Given the description of an element on the screen output the (x, y) to click on. 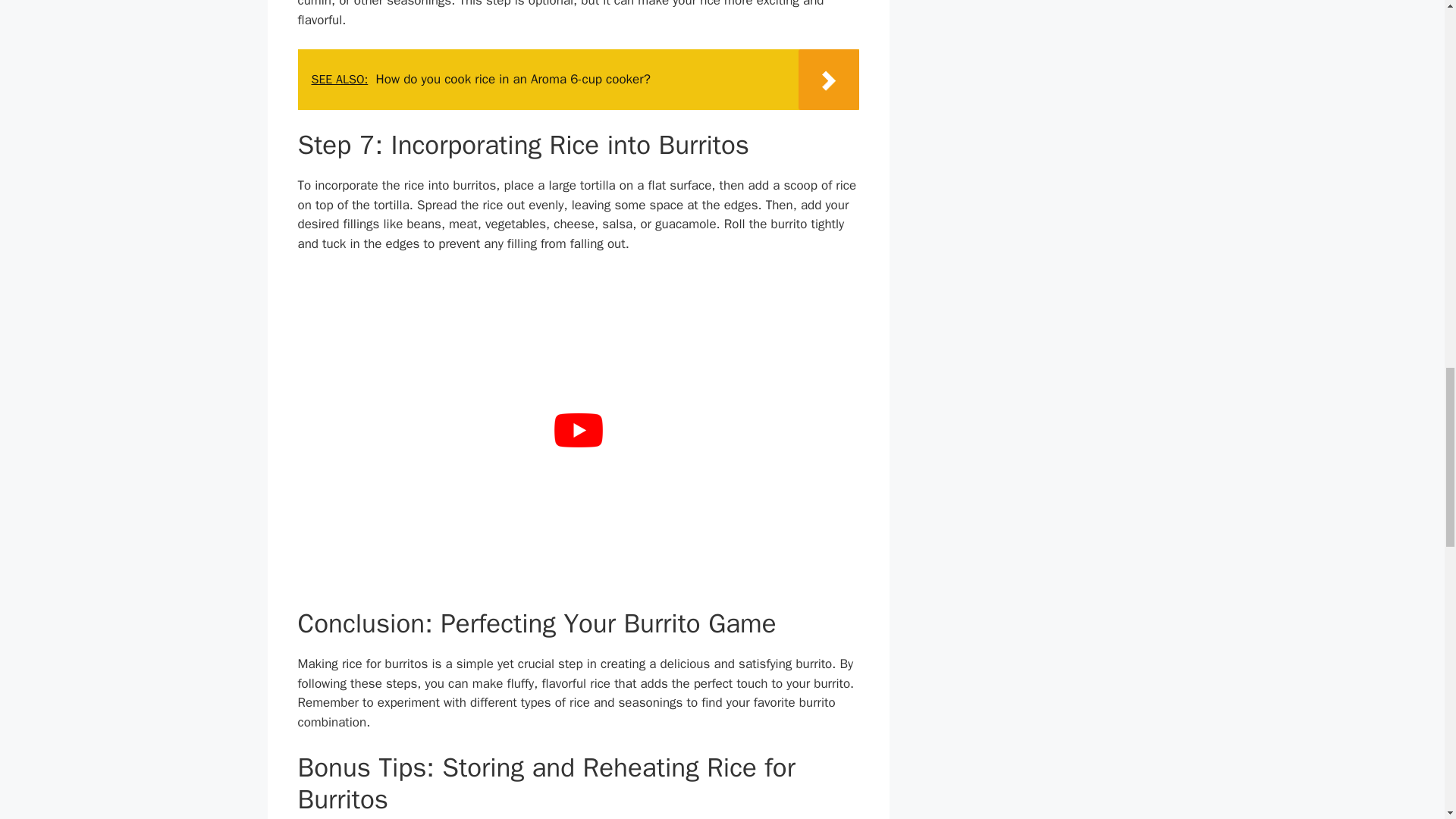
SEE ALSO:  How do you cook rice in an Aroma 6-cup cooker? (578, 79)
